Given the description of an element on the screen output the (x, y) to click on. 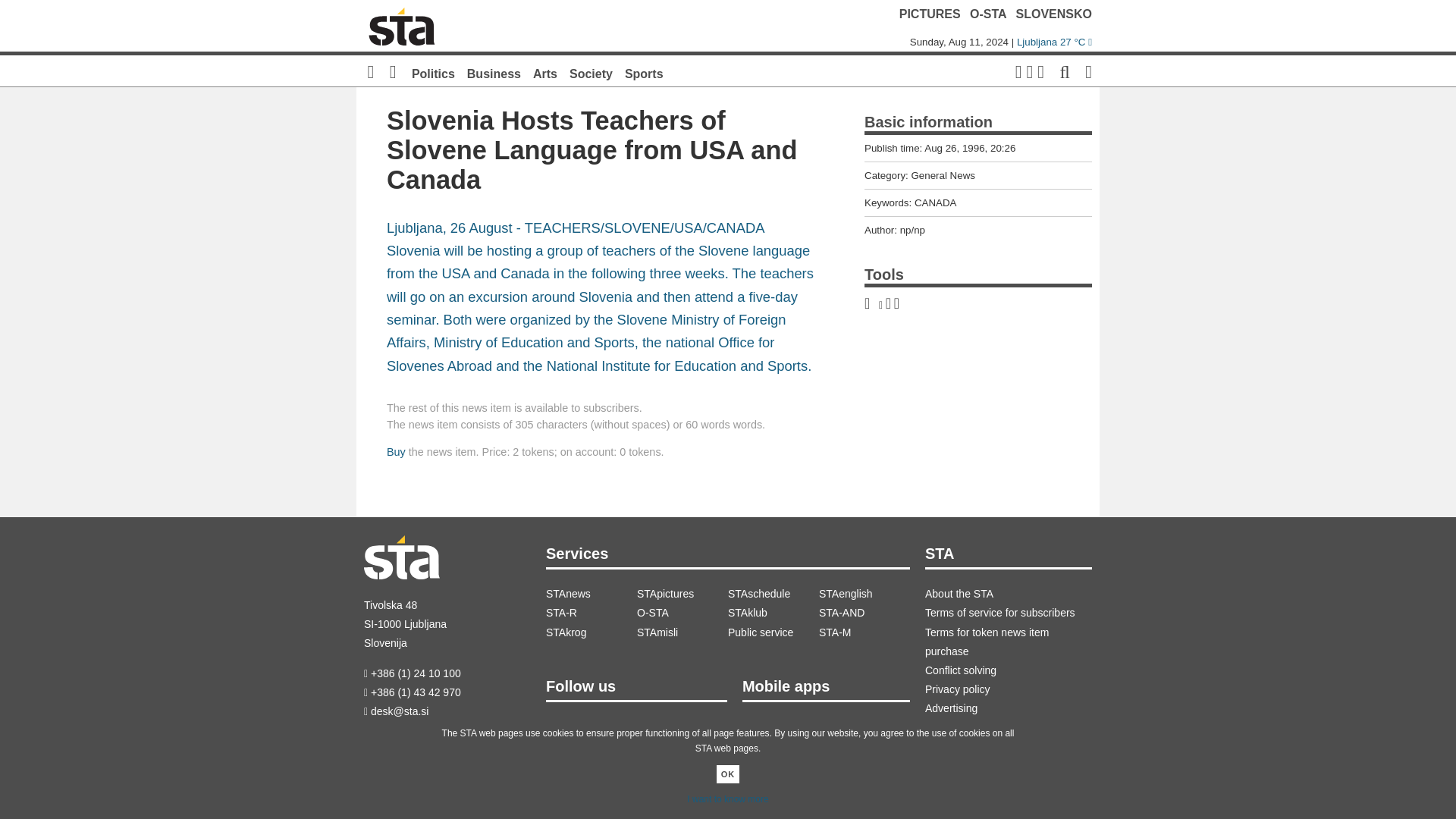
Buy (396, 451)
O-STA (987, 13)
STA-R (591, 612)
STAenglish (864, 593)
Arts (544, 73)
STAmisli (682, 632)
PICTURES (929, 13)
STAschedule (773, 593)
SLOVENSKO (1054, 13)
Society (590, 73)
